Given the description of an element on the screen output the (x, y) to click on. 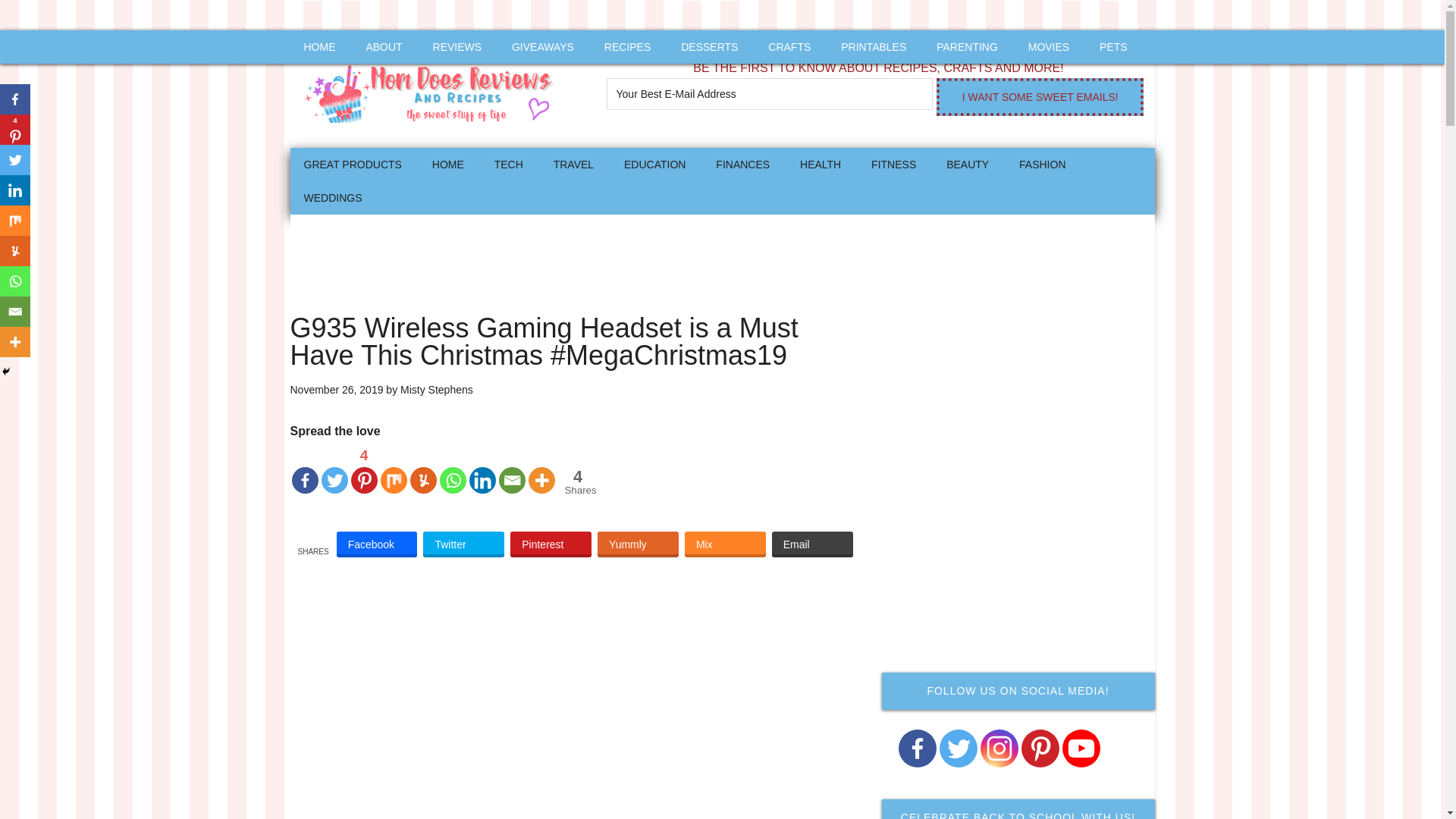
ABOUT (383, 46)
Total Shares (577, 481)
EDUCATION (654, 164)
RECIPES (627, 46)
WEDDINGS (332, 197)
HOME (319, 46)
PARENTING (967, 46)
Facebook (376, 544)
Misty Stephens (436, 389)
BEAUTY (968, 164)
